Given the description of an element on the screen output the (x, y) to click on. 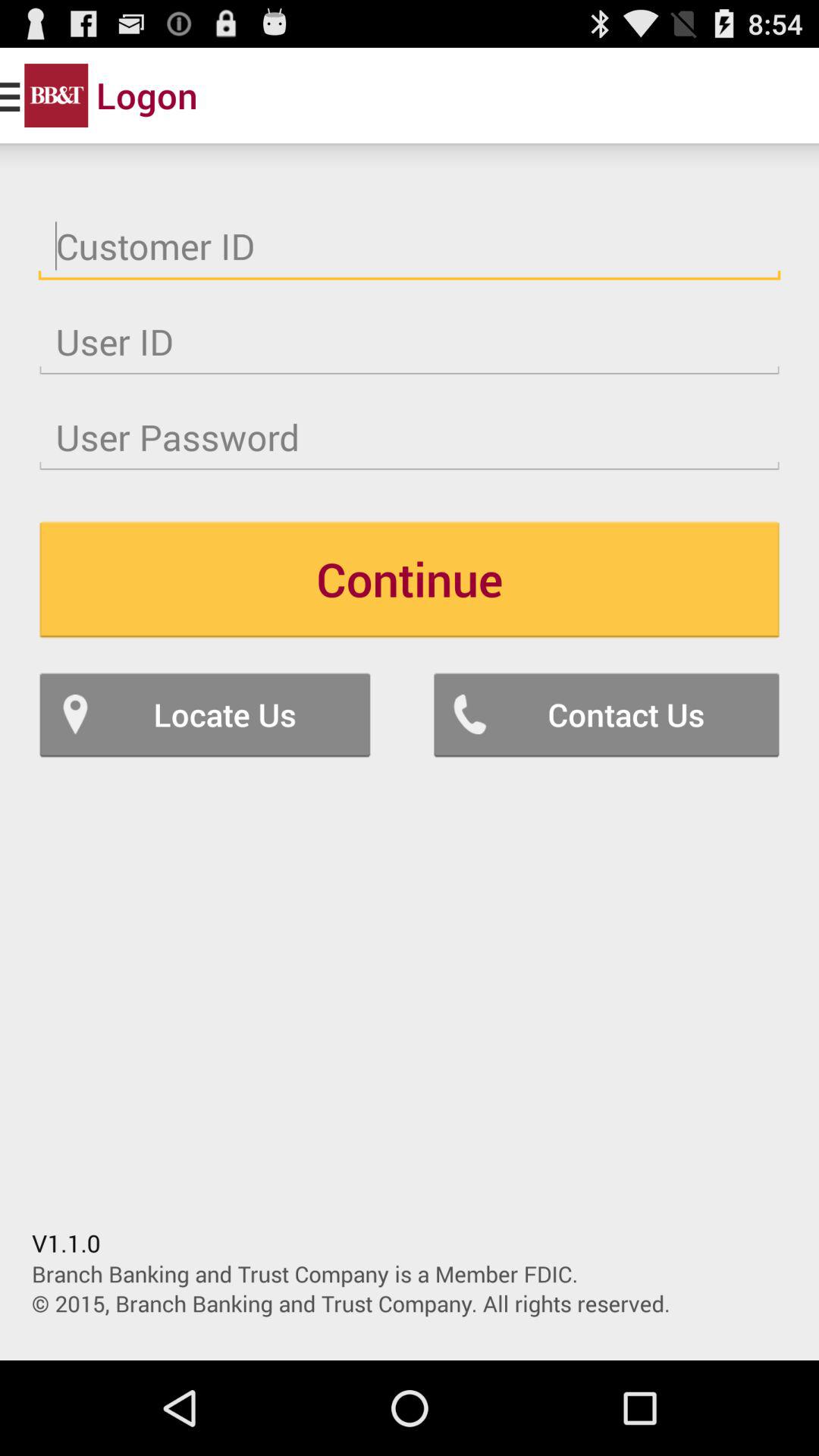
turn on the continue (409, 578)
